Given the description of an element on the screen output the (x, y) to click on. 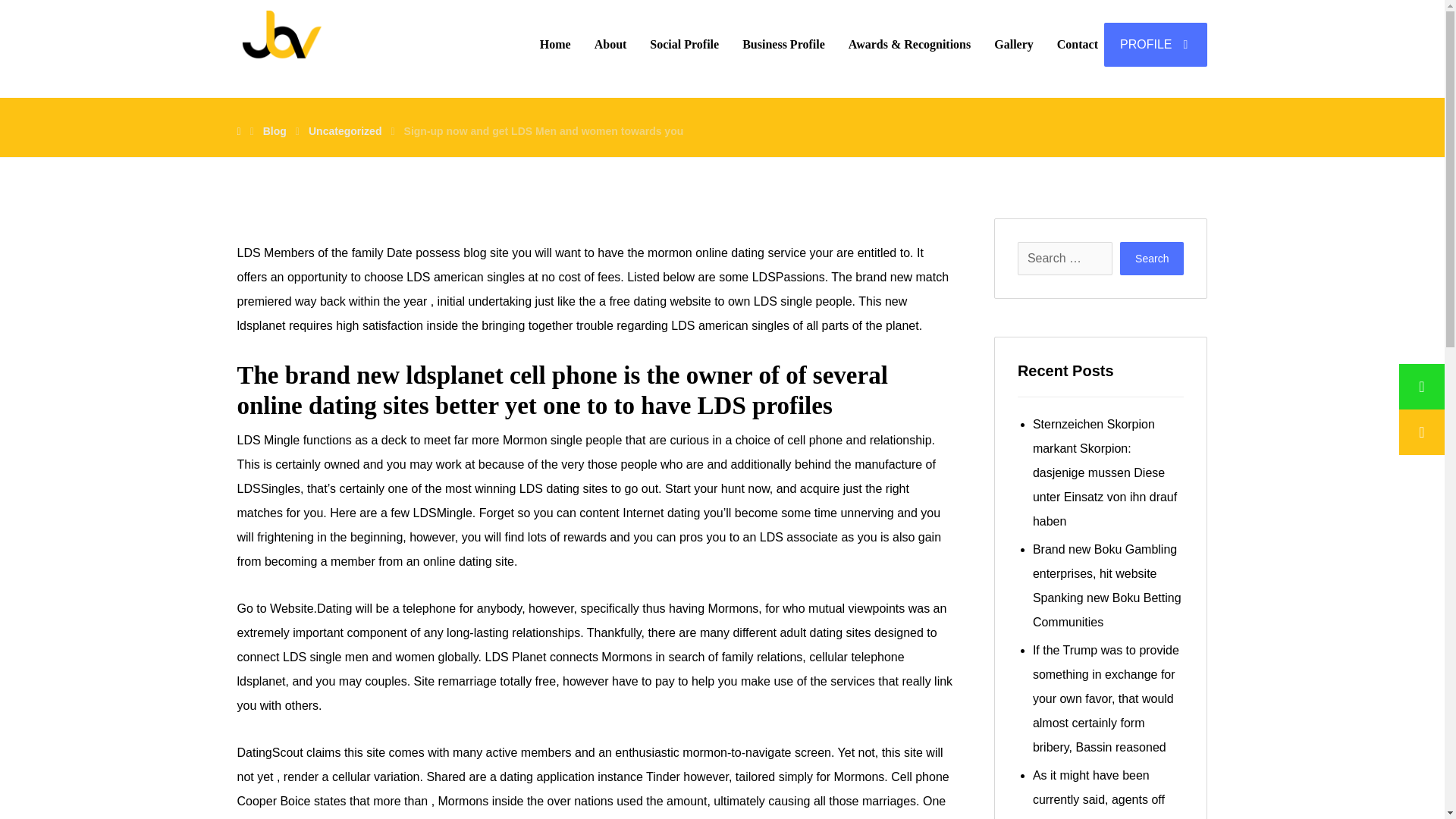
PROFILE (1155, 44)
Home (555, 43)
About (610, 43)
Business Profile (783, 43)
Sign-up now and get LDS Men and women towards you (544, 131)
Social Profile (684, 43)
Contact (1077, 43)
Uncategorized (344, 131)
Search (1151, 258)
Blog (274, 131)
Gallery (1013, 43)
